Given the description of an element on the screen output the (x, y) to click on. 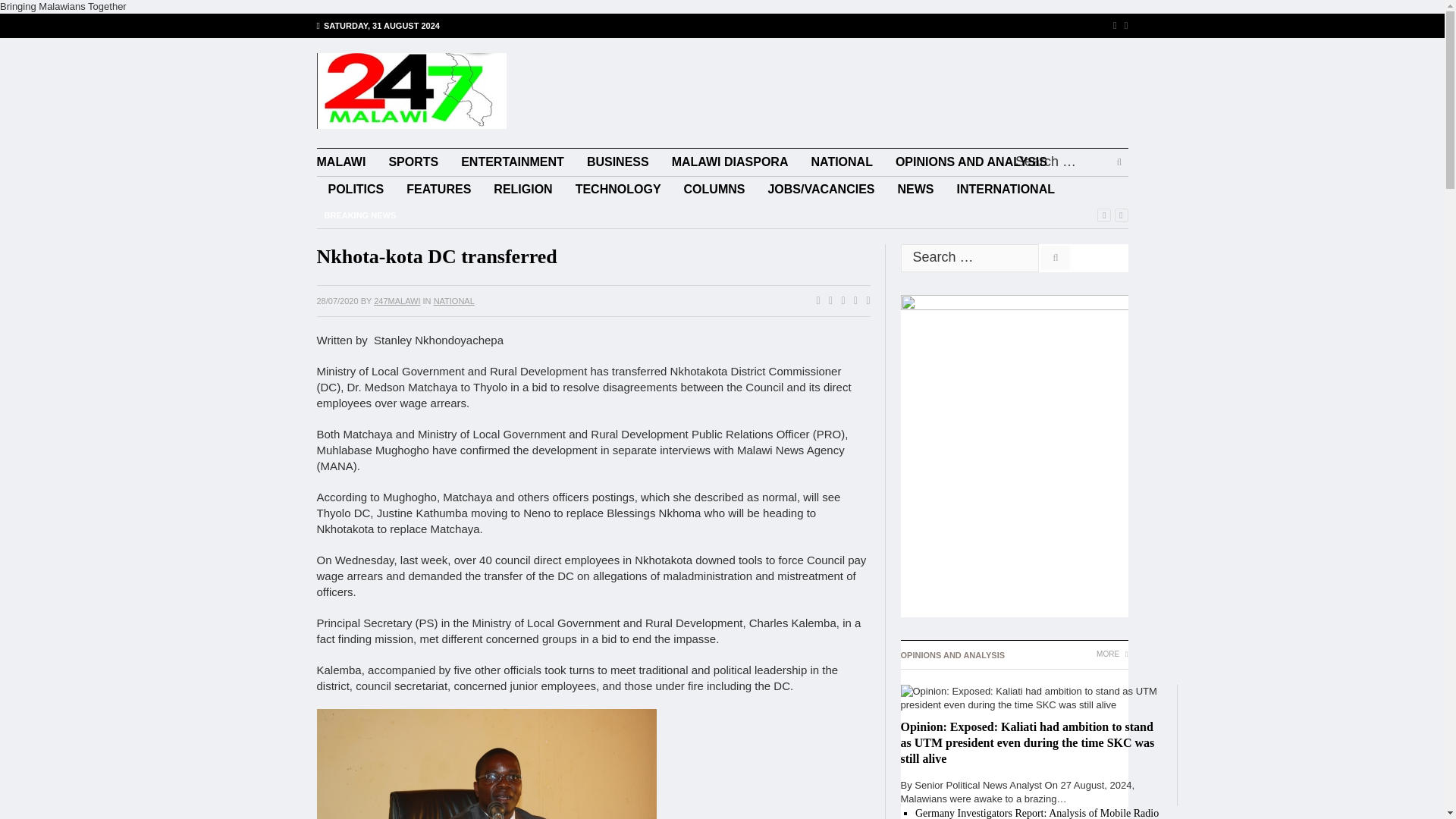
Pinterest (852, 300)
SPORTS (413, 161)
MALAWI DIASPORA (730, 161)
NATIONAL (453, 300)
247MALAWI (397, 300)
Twitter (827, 300)
Twitter (1122, 25)
BUSINESS (618, 161)
NEWS (915, 189)
GooglePlus (839, 300)
